Given the description of an element on the screen output the (x, y) to click on. 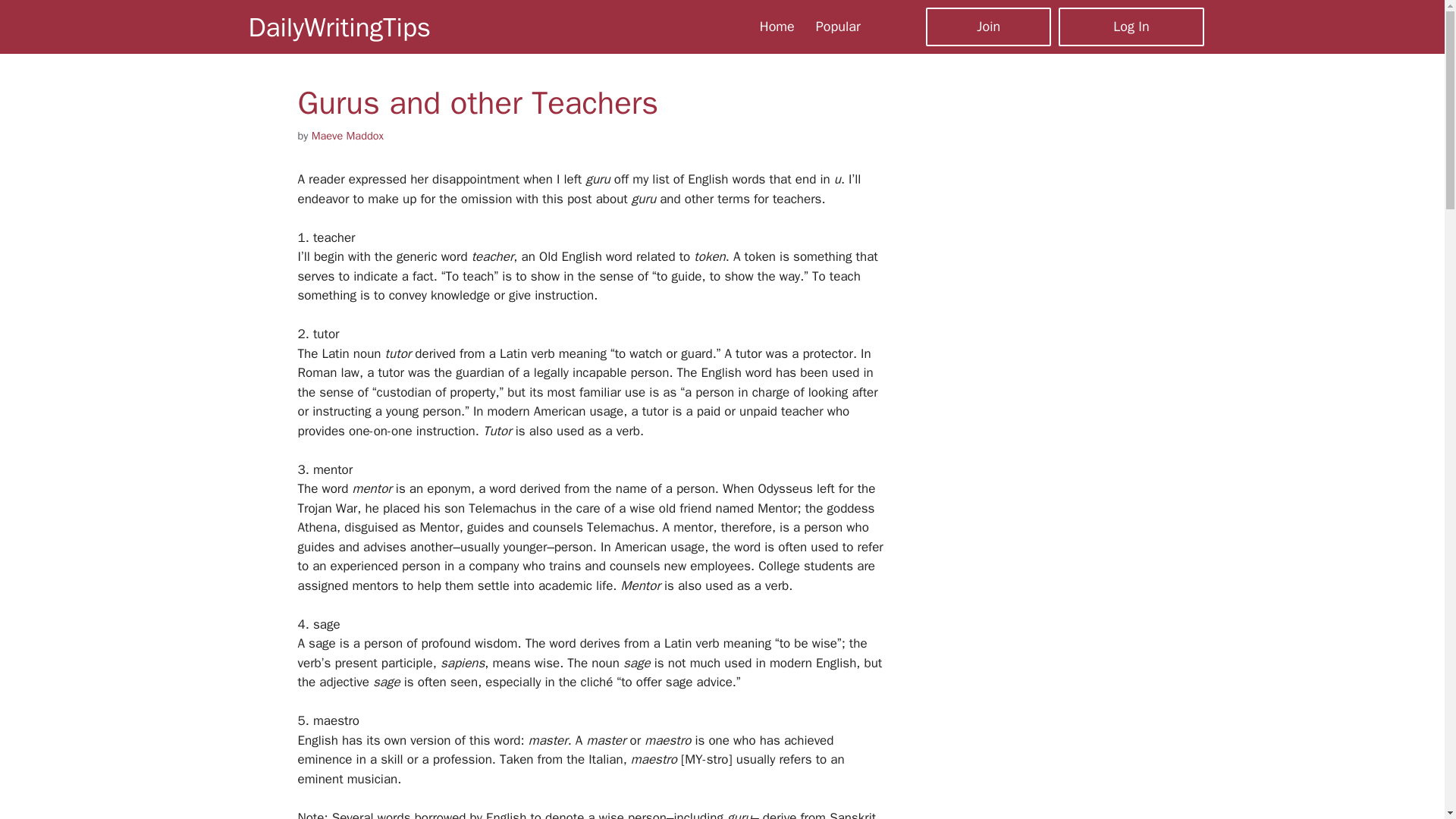
Log In (1131, 26)
Popular (837, 26)
Maeve Maddox (347, 135)
Join (988, 26)
View all posts by Maeve Maddox (347, 135)
Home (777, 26)
